Given the description of an element on the screen output the (x, y) to click on. 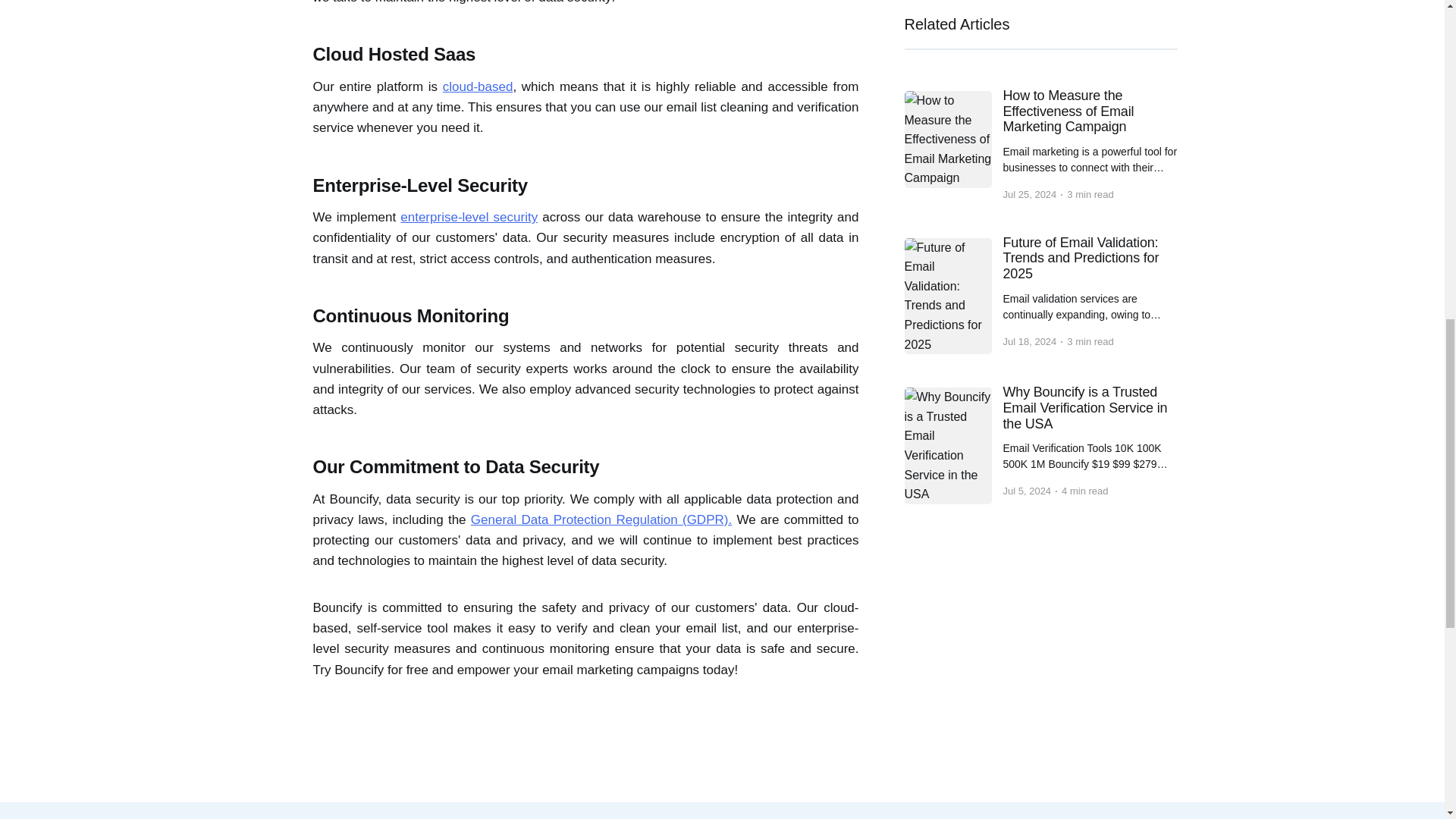
cloud-based (477, 86)
enterprise-level security (468, 216)
